Given the description of an element on the screen output the (x, y) to click on. 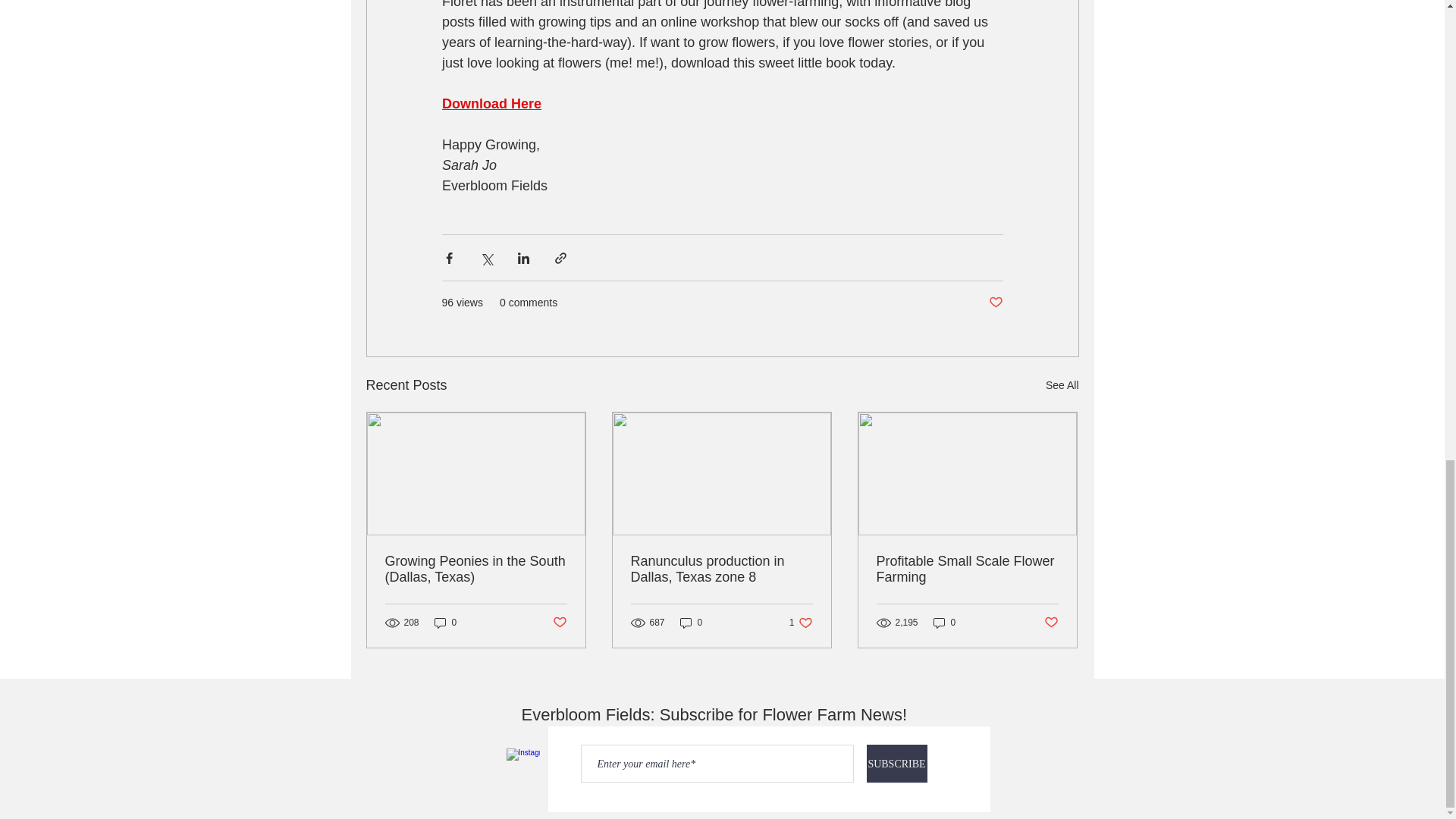
Ranunculus production in Dallas, Texas zone 8 (721, 569)
0 (944, 622)
0 (691, 622)
Profitable Small Scale Flower Farming (967, 569)
Post not marked as liked (558, 622)
Post not marked as liked (1050, 622)
See All (1061, 385)
0 (445, 622)
Download Here (490, 103)
SUBSCRIBE (896, 763)
